Given the description of an element on the screen output the (x, y) to click on. 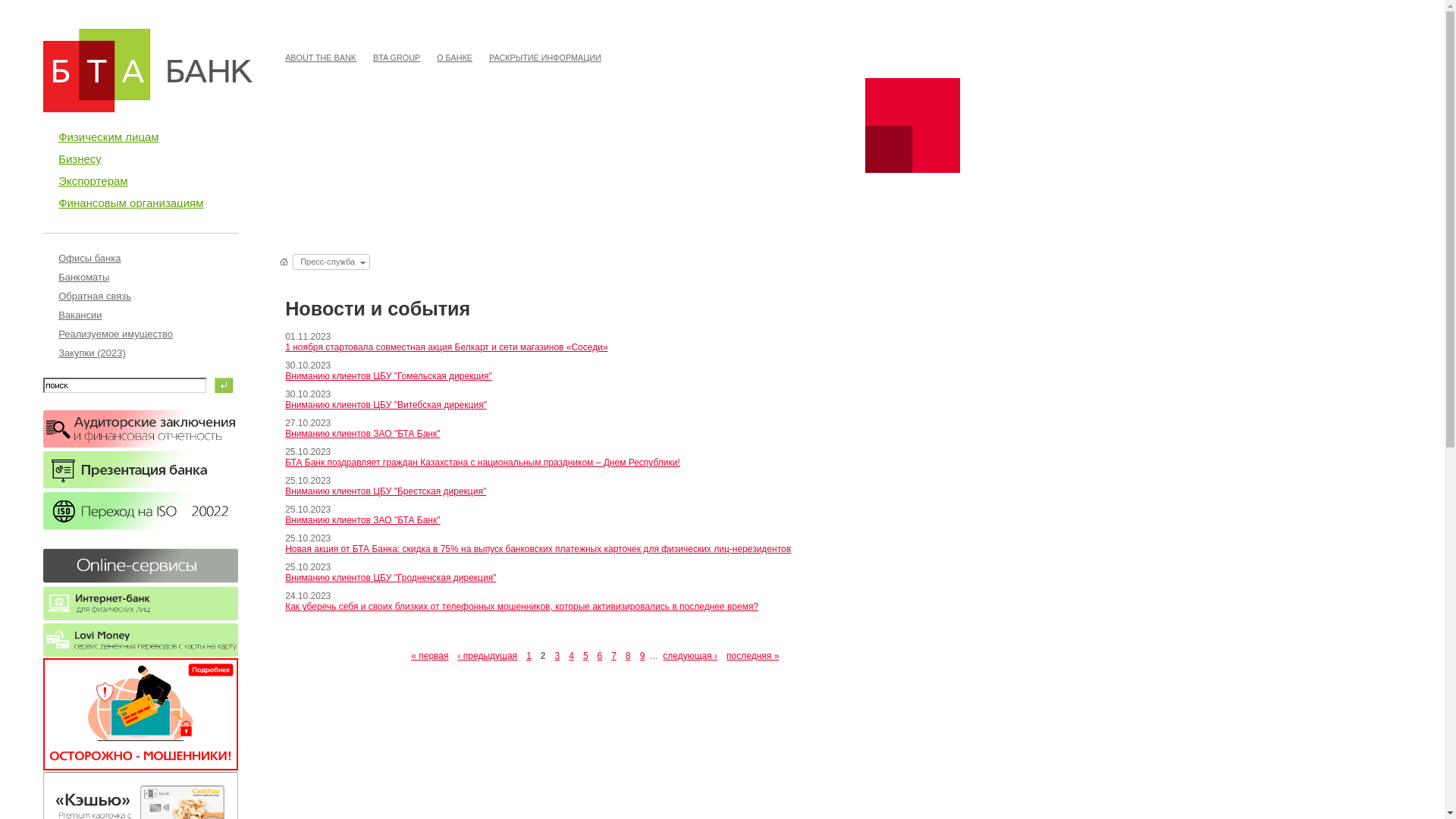
1 Element type: text (528, 655)
9 Element type: text (642, 655)
4 Element type: text (571, 655)
7 Element type: text (613, 655)
BTA GROUP Element type: text (396, 57)
8 Element type: text (628, 655)
ABOUT THE BANK Element type: text (320, 57)
  Element type: text (284, 261)
6 Element type: text (600, 655)
5 Element type: text (585, 655)
3 Element type: text (557, 655)
